Given the description of an element on the screen output the (x, y) to click on. 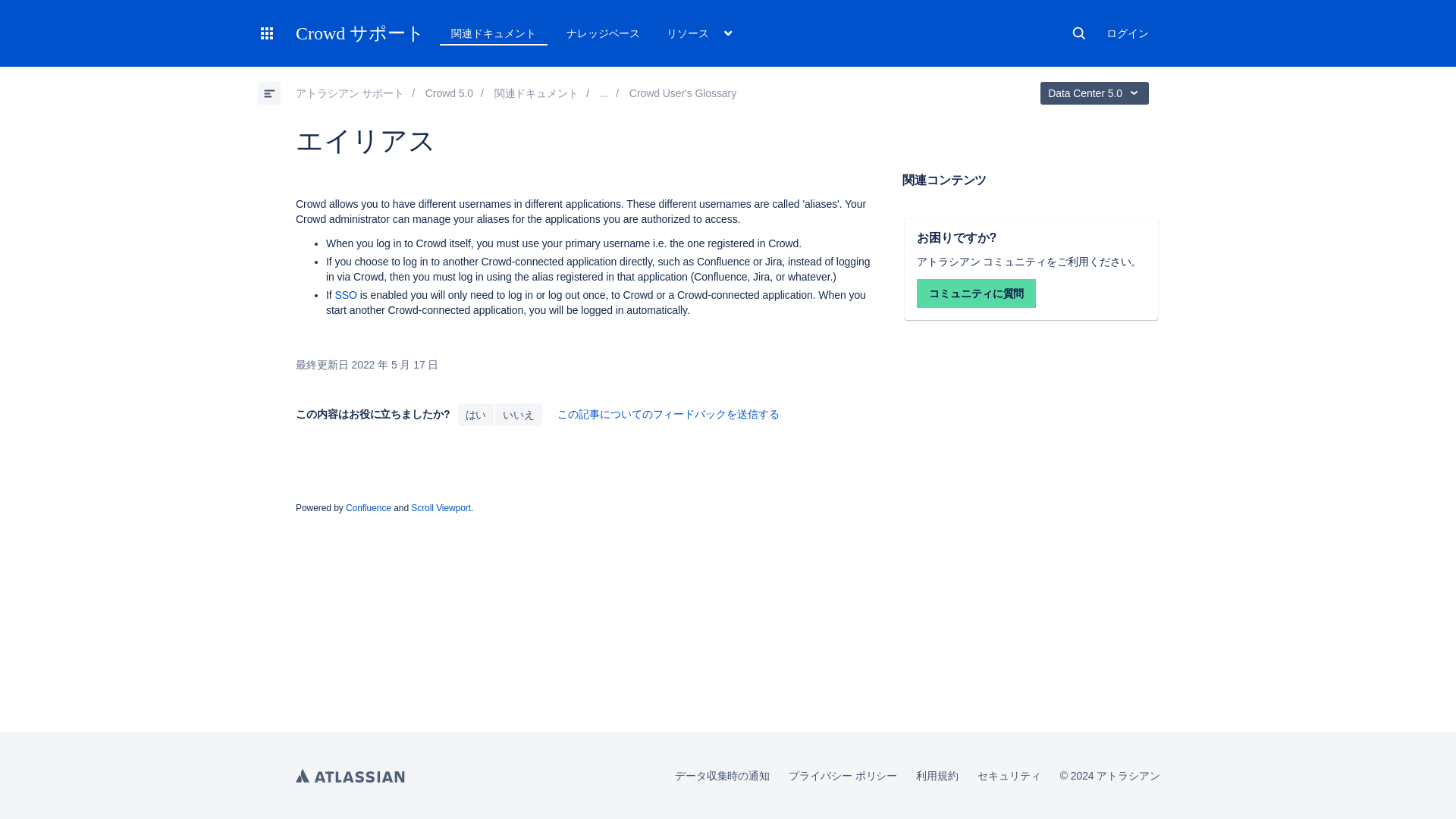
Crowd User's Glossary (682, 92)
Crowd (449, 92)
